Given the description of an element on the screen output the (x, y) to click on. 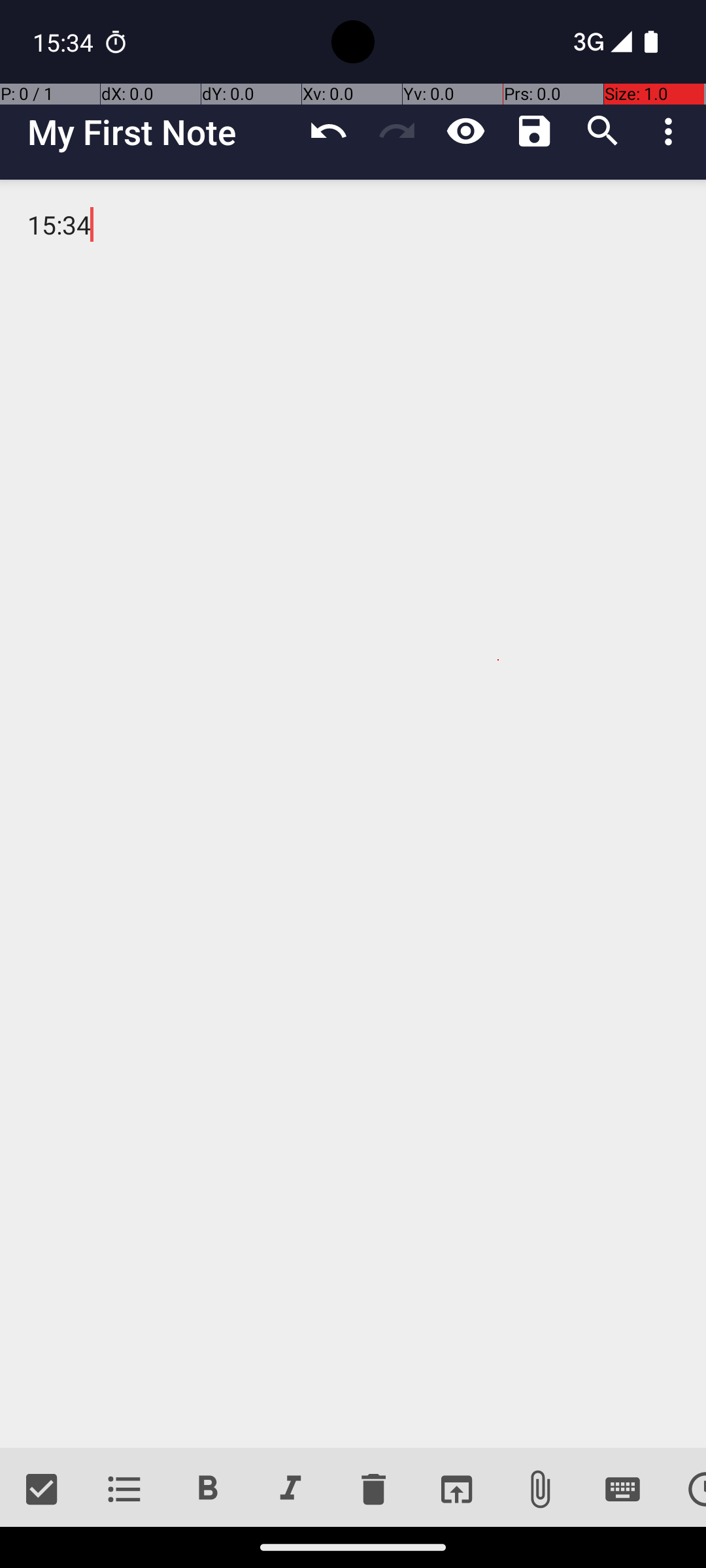
My First Note Element type: android.widget.TextView (160, 131)
